Given the description of an element on the screen output the (x, y) to click on. 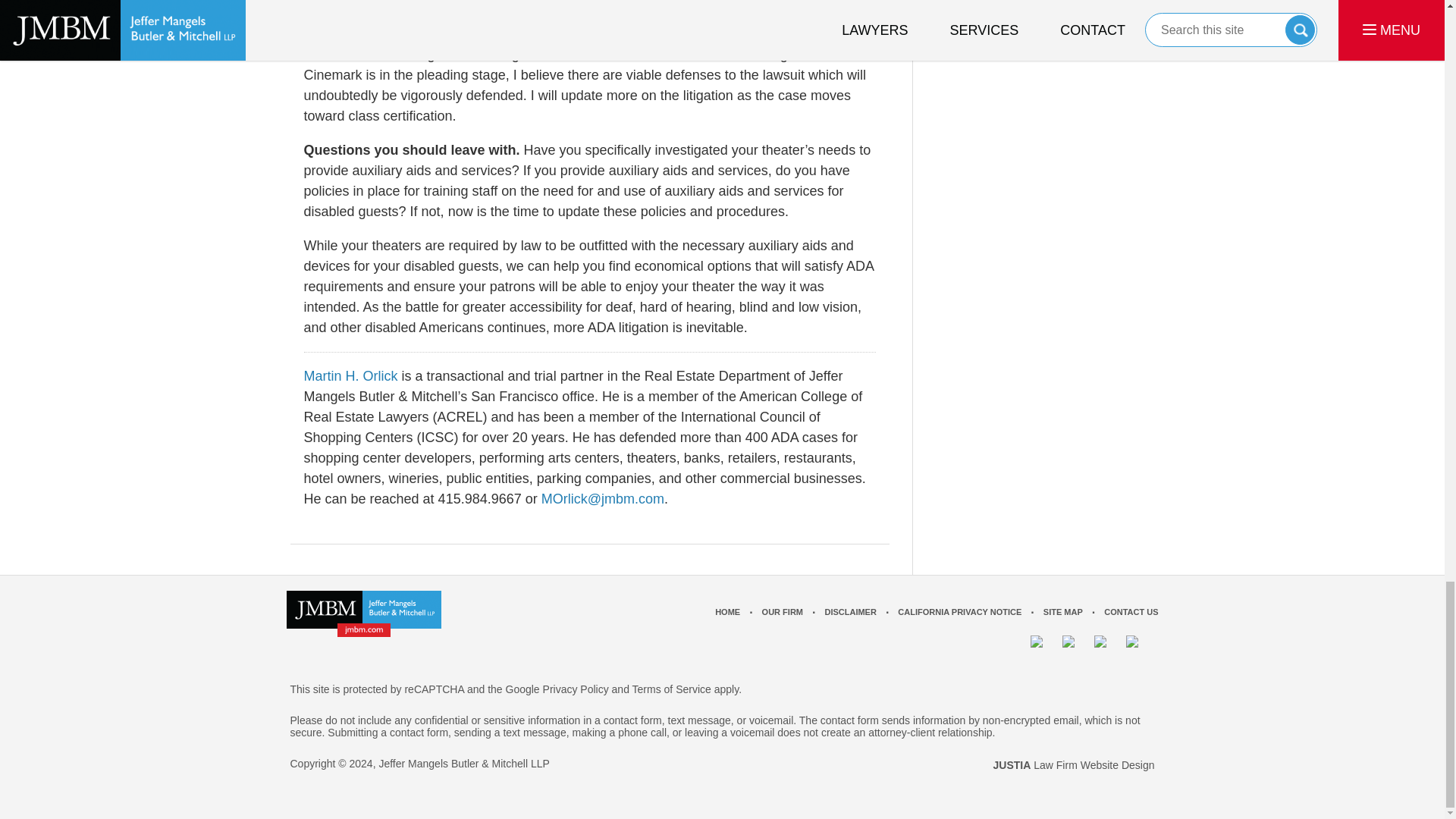
Facebook (1043, 649)
LinkedIn (1107, 649)
Justia (1139, 649)
Twitter (1075, 649)
